Given the description of an element on the screen output the (x, y) to click on. 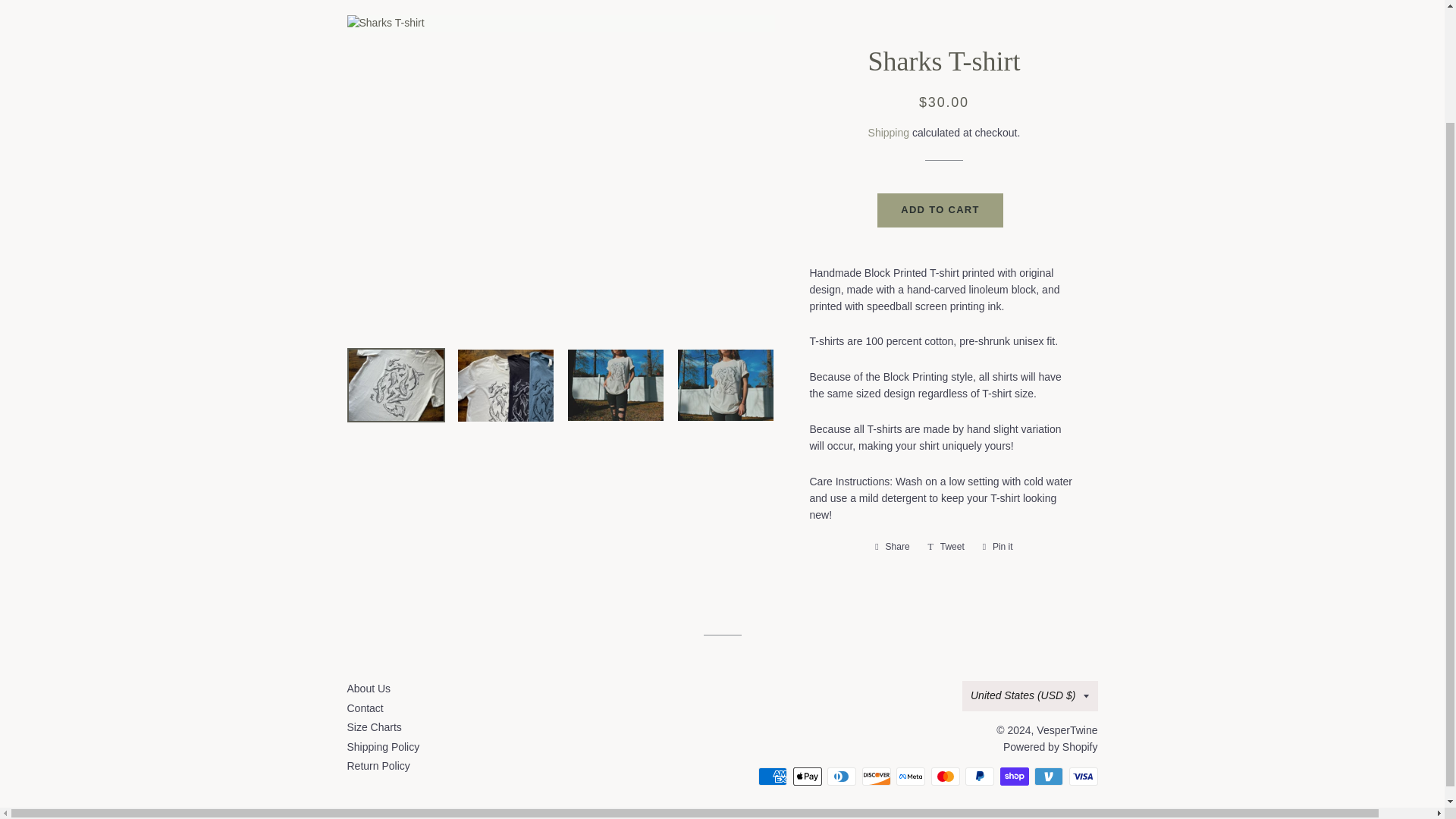
Meta Pay (910, 776)
Venmo (1047, 776)
Pin on Pinterest (997, 546)
Share on Facebook (892, 546)
Apple Pay (807, 776)
Mastercard (945, 776)
Visa (1082, 776)
American Express (772, 776)
Discover (875, 776)
Diners Club (841, 776)
